Given the description of an element on the screen output the (x, y) to click on. 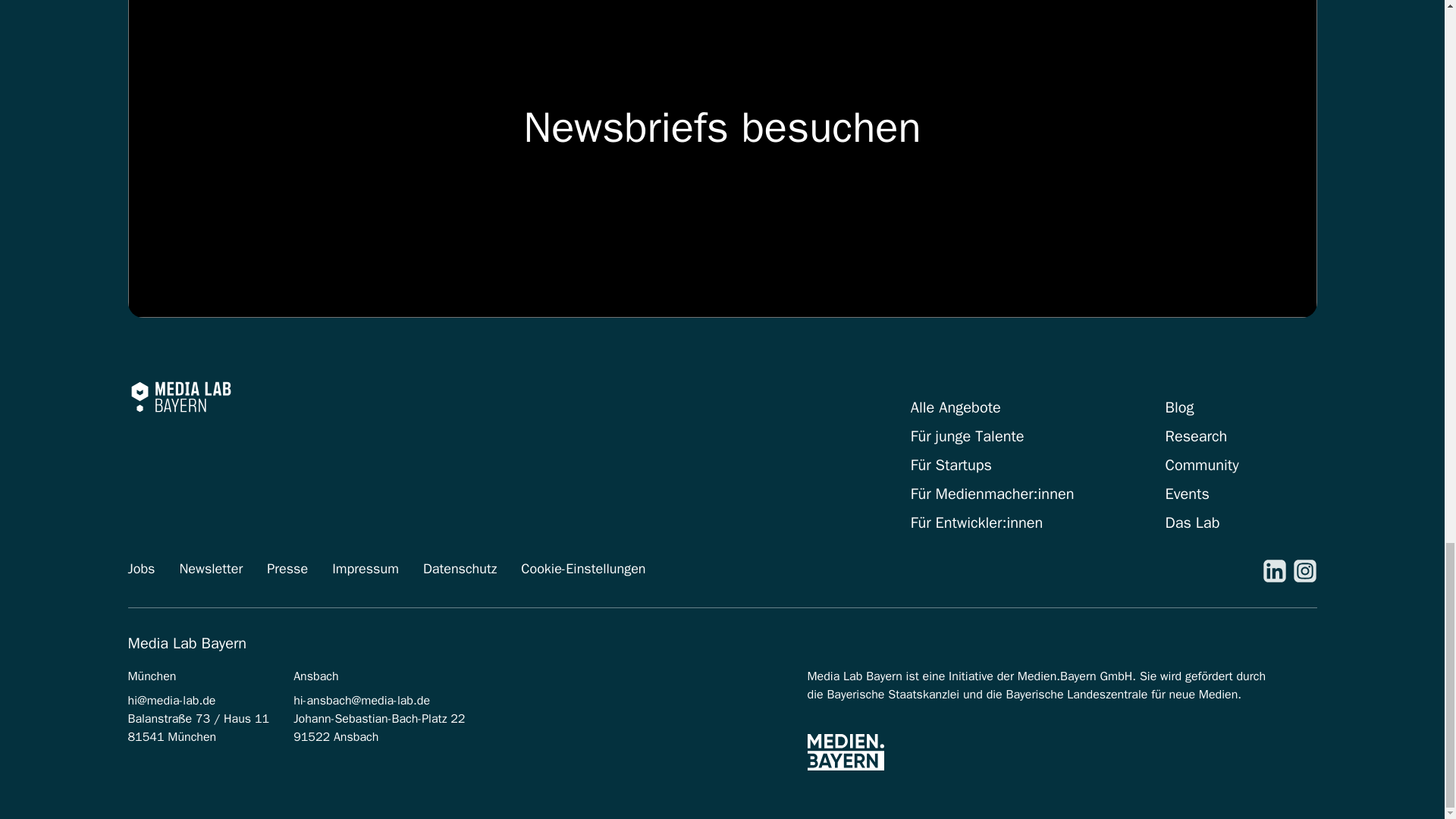
Zur Startseite gehen (180, 396)
Alle Angebote (956, 407)
